Given the description of an element on the screen output the (x, y) to click on. 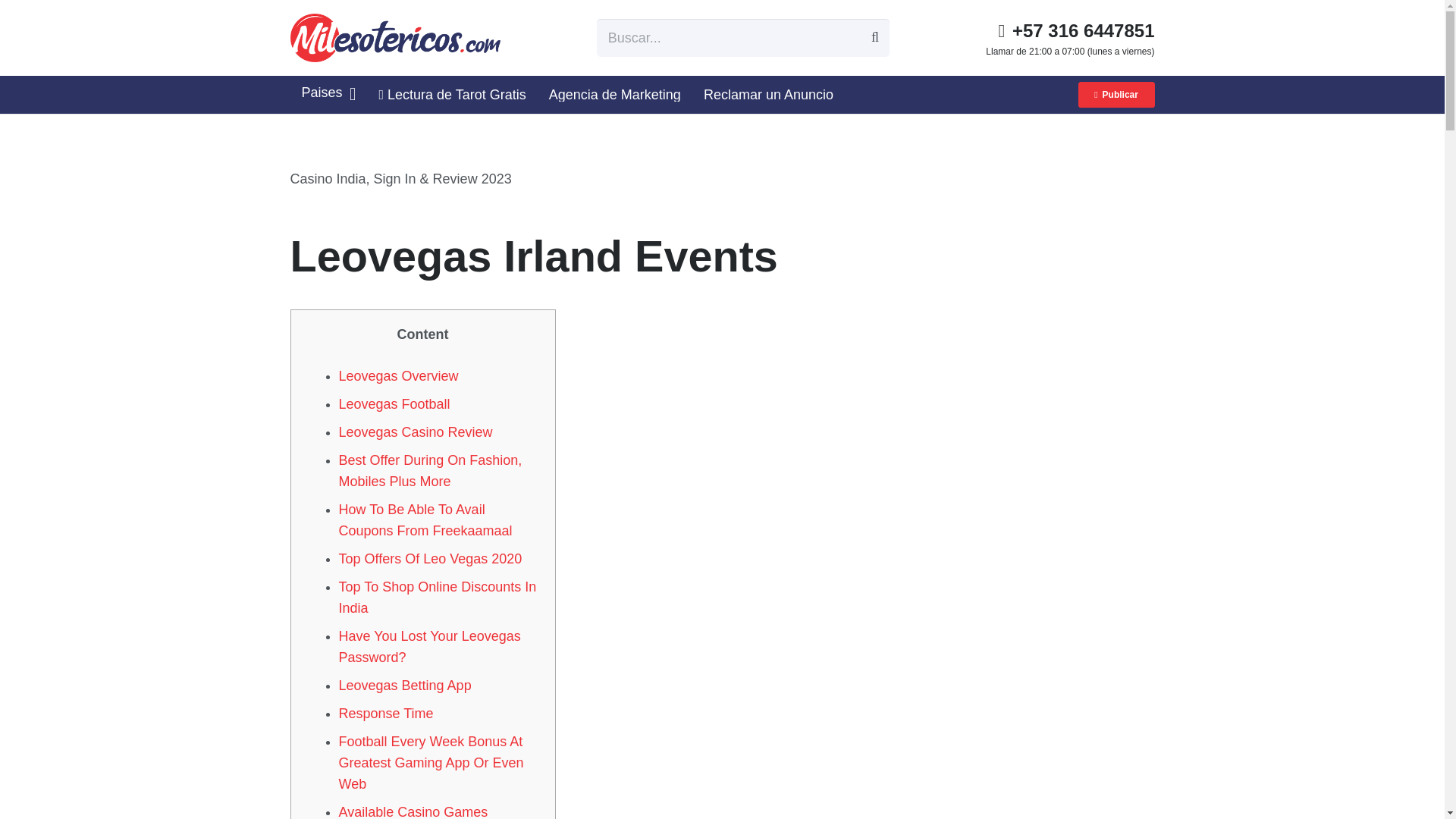
Leovegas Football (393, 403)
Leovegas Overview (397, 376)
Agencia de Marketing (615, 94)
Have You Lost Your Leovegas Password? (428, 646)
Leovegas Casino Review (414, 432)
Football Every Week Bonus At Greatest Gaming App Or Even Web (429, 762)
Top To Shop Online Discounts In India (436, 597)
Paises (327, 94)
Leovegas Betting App (403, 685)
How To Be Able To Avail Coupons From Freekaamaal (424, 520)
Available Casino Games (412, 811)
Response Time (384, 713)
Publicar (1116, 94)
Top Offers Of Leo Vegas 2020 (429, 558)
Best Offer During On Fashion, Mobiles Plus More (429, 470)
